Given the description of an element on the screen output the (x, y) to click on. 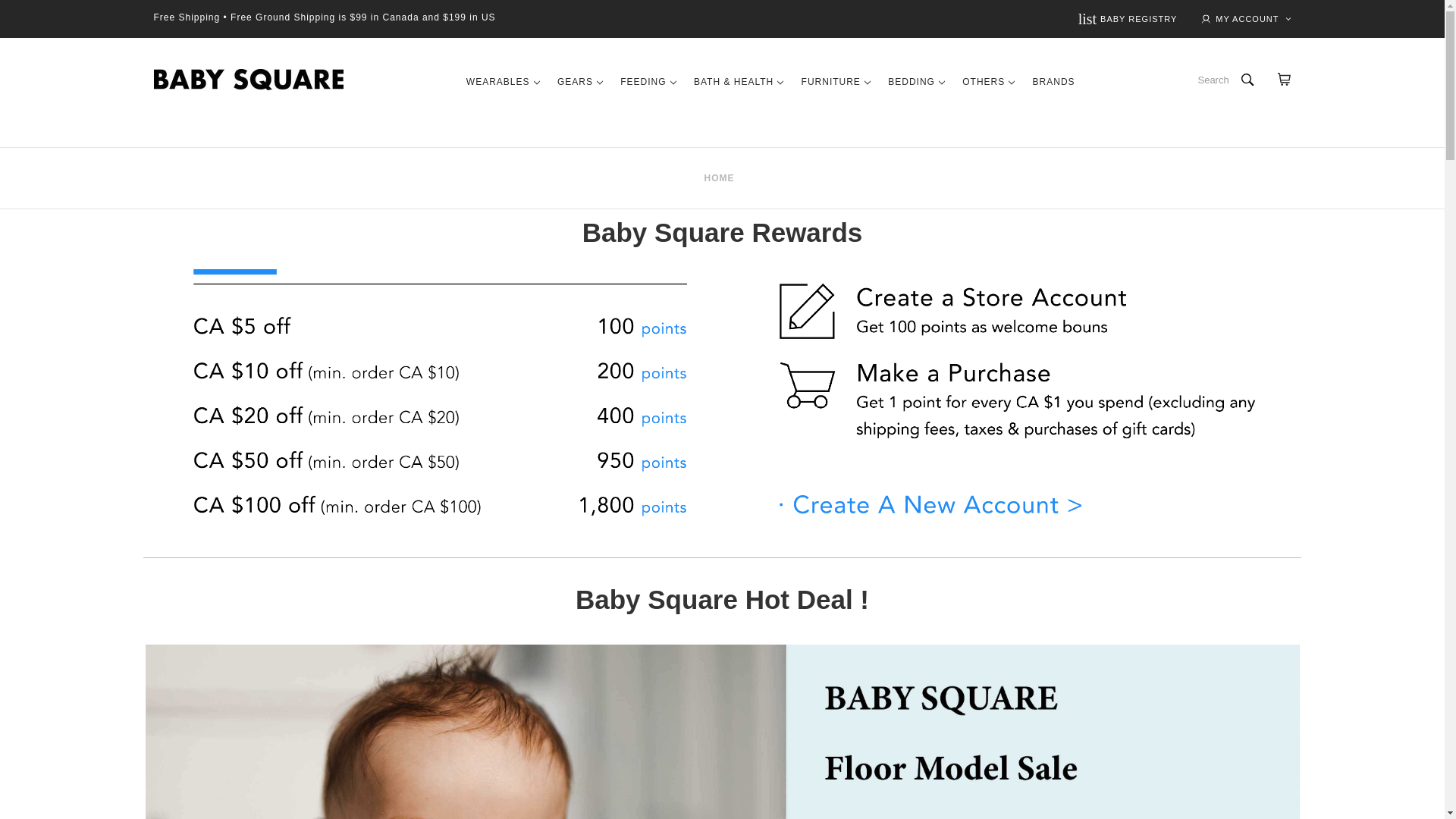
WEARABLES (1127, 18)
BABY SQUARE (502, 83)
MY ACCOUNT (247, 79)
